Given the description of an element on the screen output the (x, y) to click on. 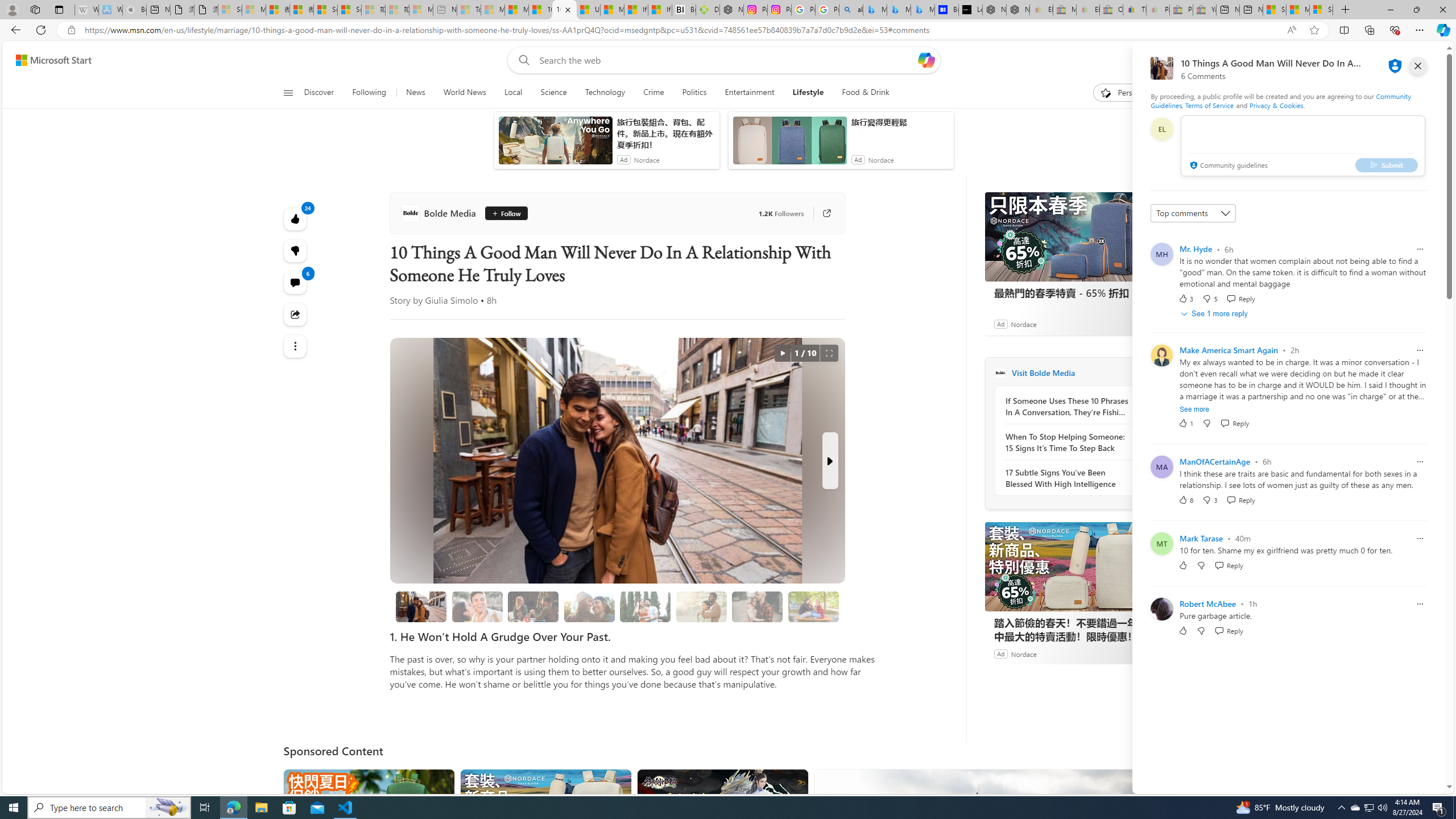
Crime (653, 92)
3 Like (1185, 298)
Like (1182, 630)
Microsoft account | Account Checkup - Sleeping (421, 9)
boyfriend holding girlfriend close sunshine (700, 606)
Personalize (1128, 92)
Share this story (295, 314)
Profile Picture (1161, 608)
Microsoft Bing Travel - Shangri-La Hotel Bangkok (922, 9)
Sort comments by (1193, 212)
Science (553, 92)
Open navigation menu (287, 92)
Local (513, 92)
